Given the description of an element on the screen output the (x, y) to click on. 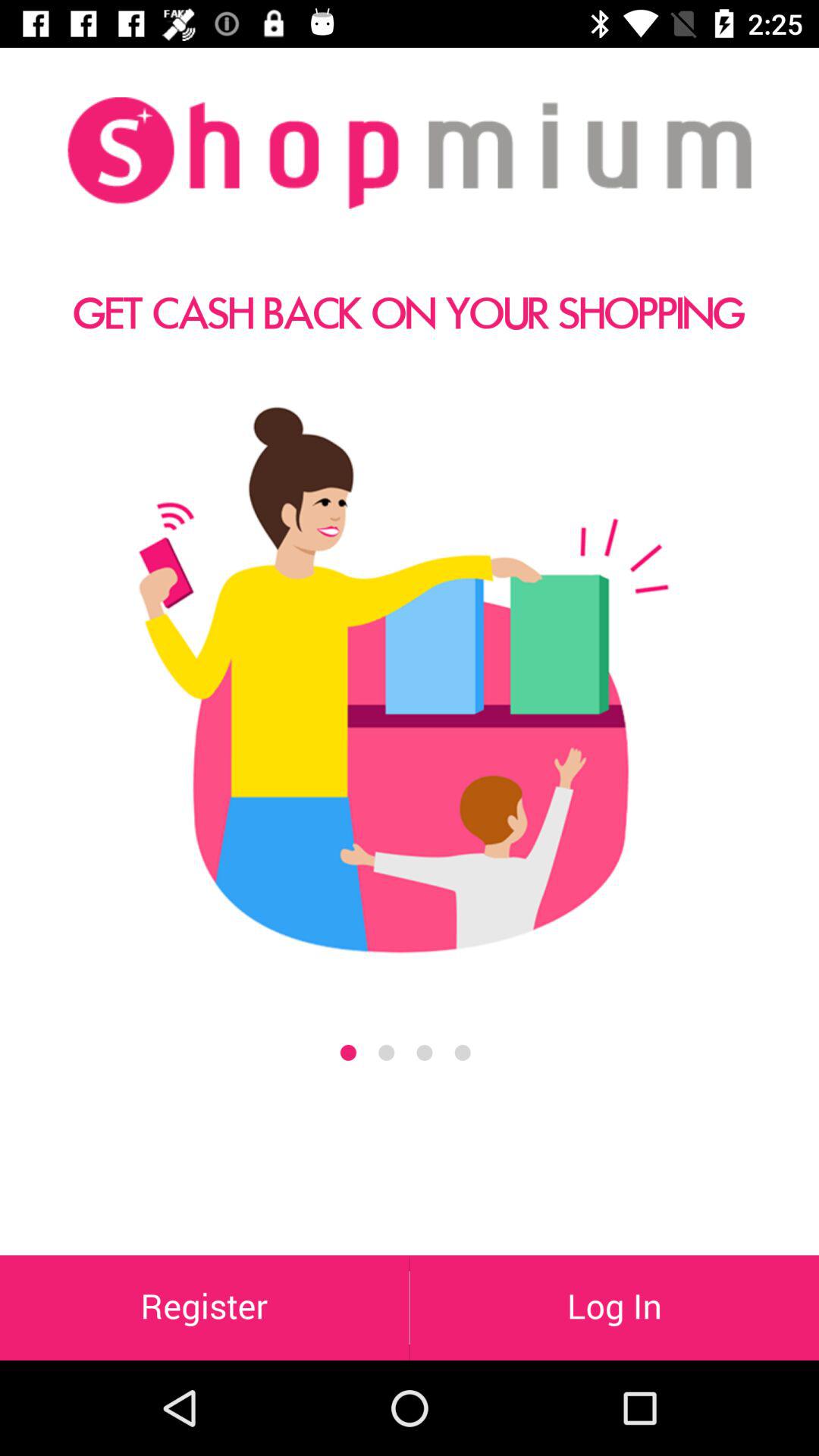
select log in (614, 1307)
